Given the description of an element on the screen output the (x, y) to click on. 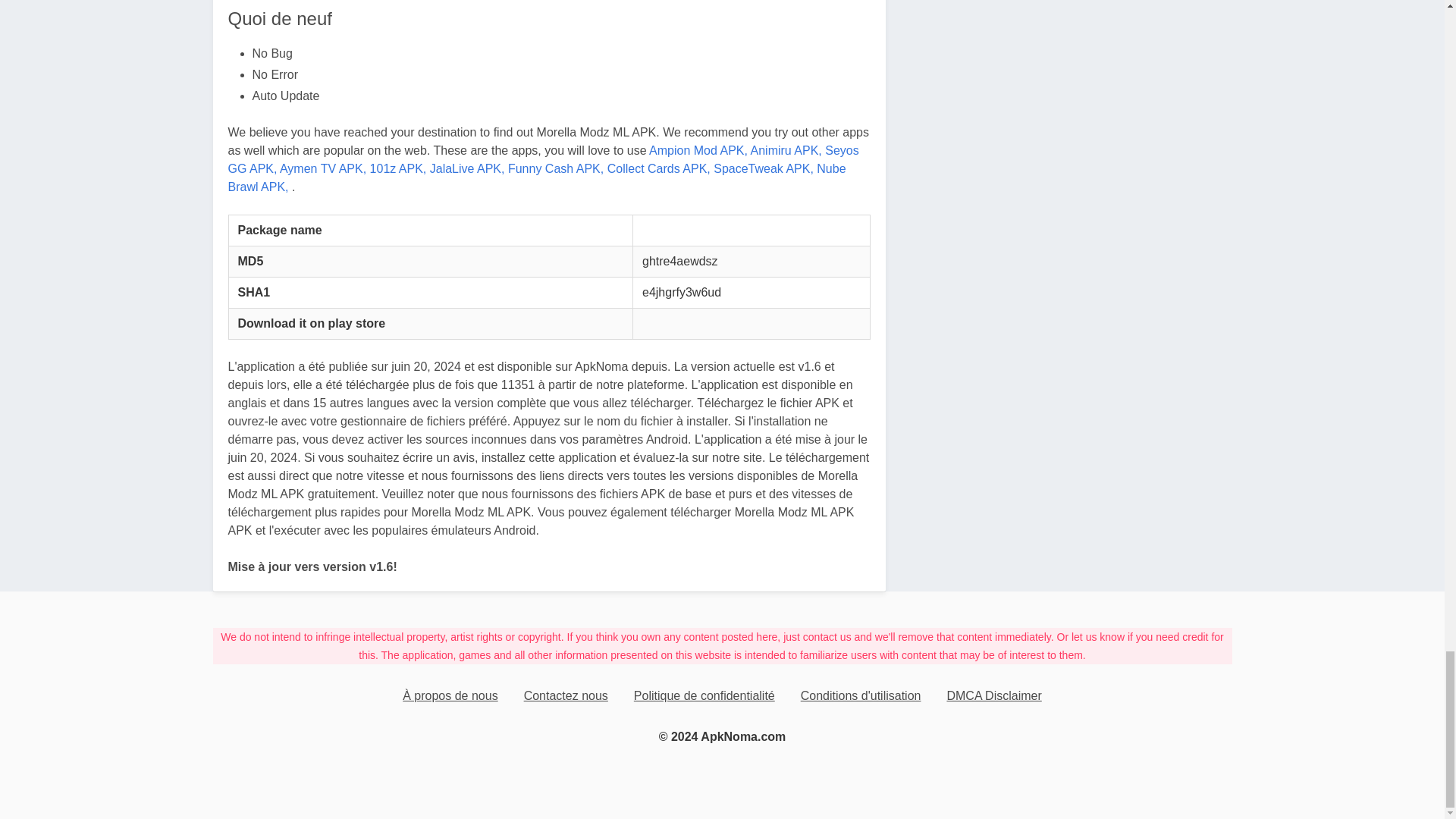
Collect Cards APK APK (658, 168)
Funny Cash APK APK (556, 168)
JalaLive APK APK (467, 168)
SpaceTweak APK APK (763, 168)
101z APK APK (397, 168)
Nube Brawl APK APK (536, 177)
Aymen TV APK APK (322, 168)
Seyos GG APK APK (543, 159)
Animiru APK APK (786, 150)
Ampion Mod APK APK (698, 150)
